Given the description of an element on the screen output the (x, y) to click on. 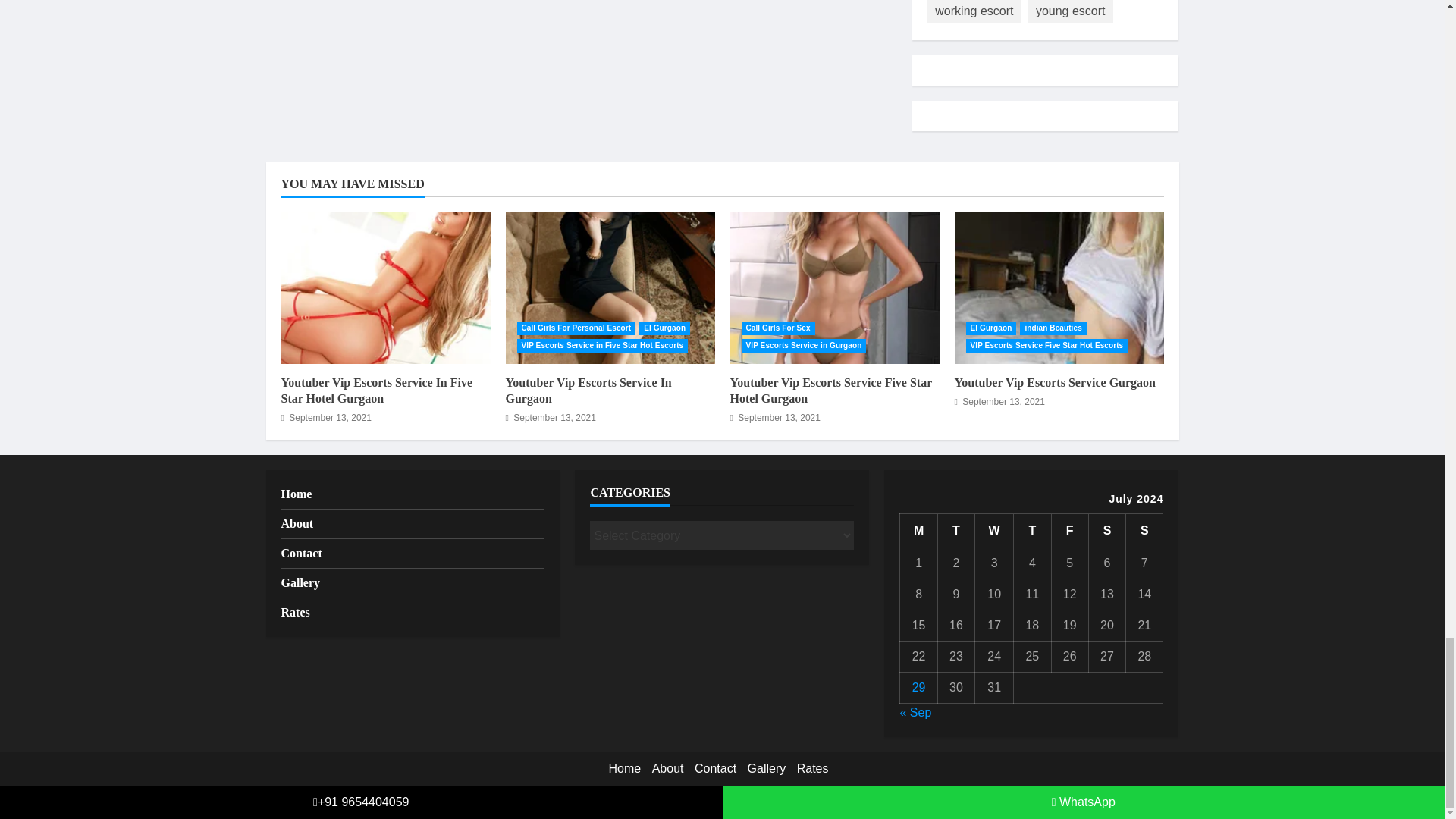
Thursday (1032, 530)
Saturday (1106, 530)
Friday (1069, 530)
Wednesday (994, 530)
Monday (918, 530)
Tuesday (955, 530)
Sunday (1144, 530)
